Given the description of an element on the screen output the (x, y) to click on. 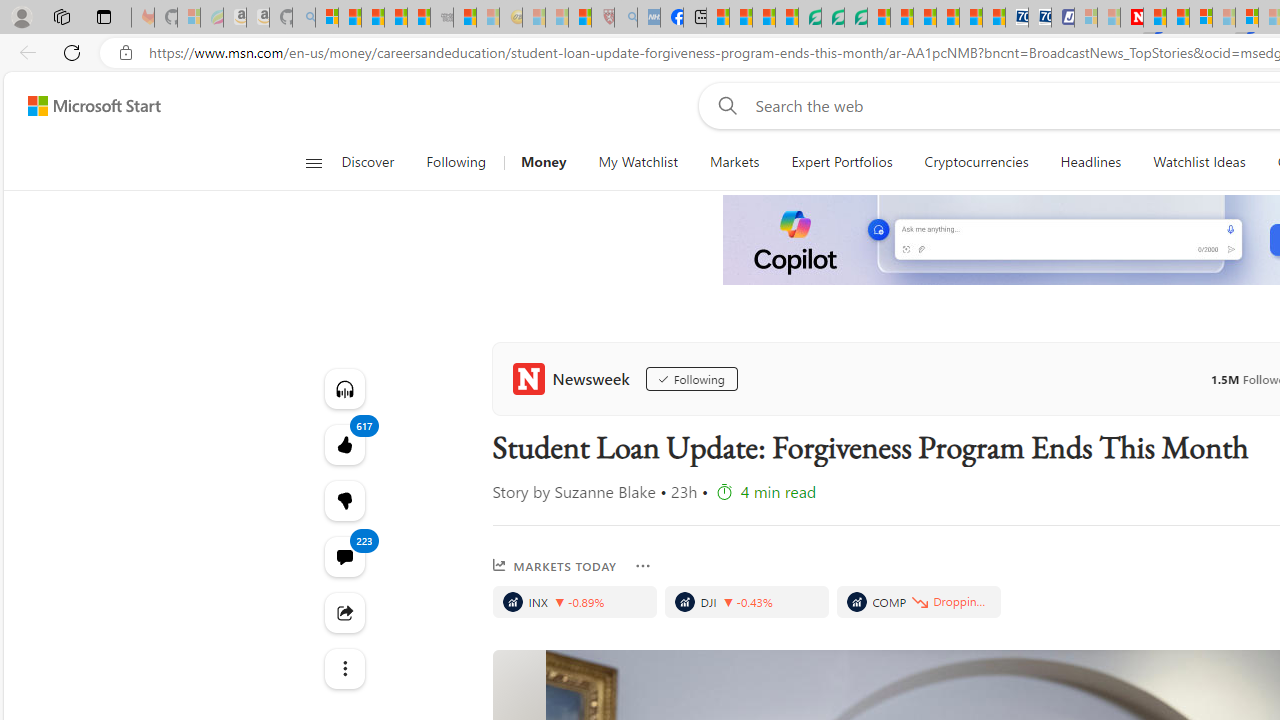
Share this story (343, 612)
Headlines (1090, 162)
Local - MSN (580, 17)
Money (543, 162)
Listen to this article (343, 388)
14 Common Myths Debunked By Scientific Facts (1178, 17)
Terms of Use Agreement (832, 17)
